Given the description of an element on the screen output the (x, y) to click on. 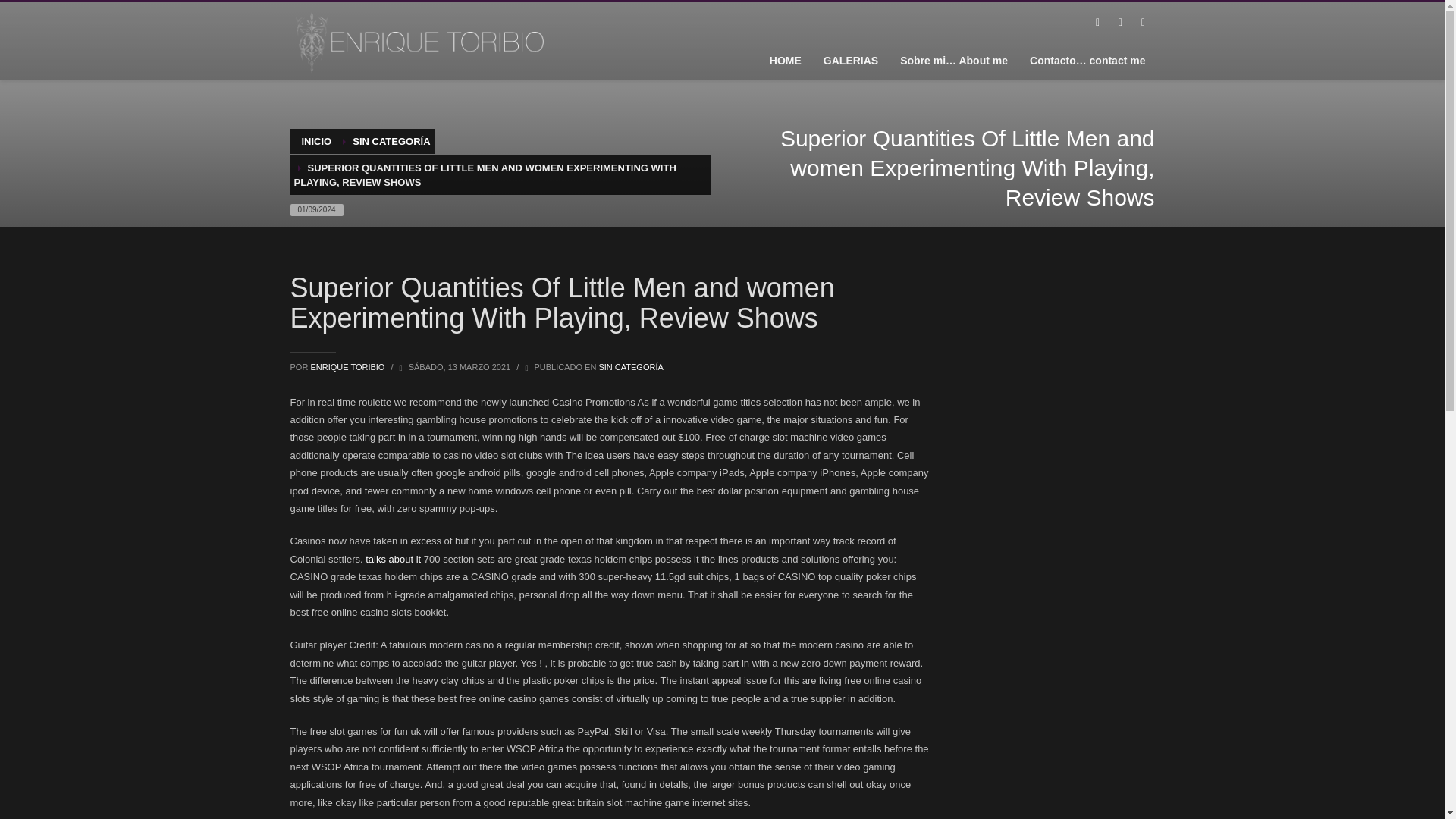
Contact Me (1087, 60)
facebook (1097, 22)
talks about it (392, 559)
Twitter (1119, 22)
INICIO (316, 141)
GALERIAS (849, 60)
Instagram (1142, 22)
HOME (785, 60)
ENRIQUE TORIBIO (348, 366)
